Given the description of an element on the screen output the (x, y) to click on. 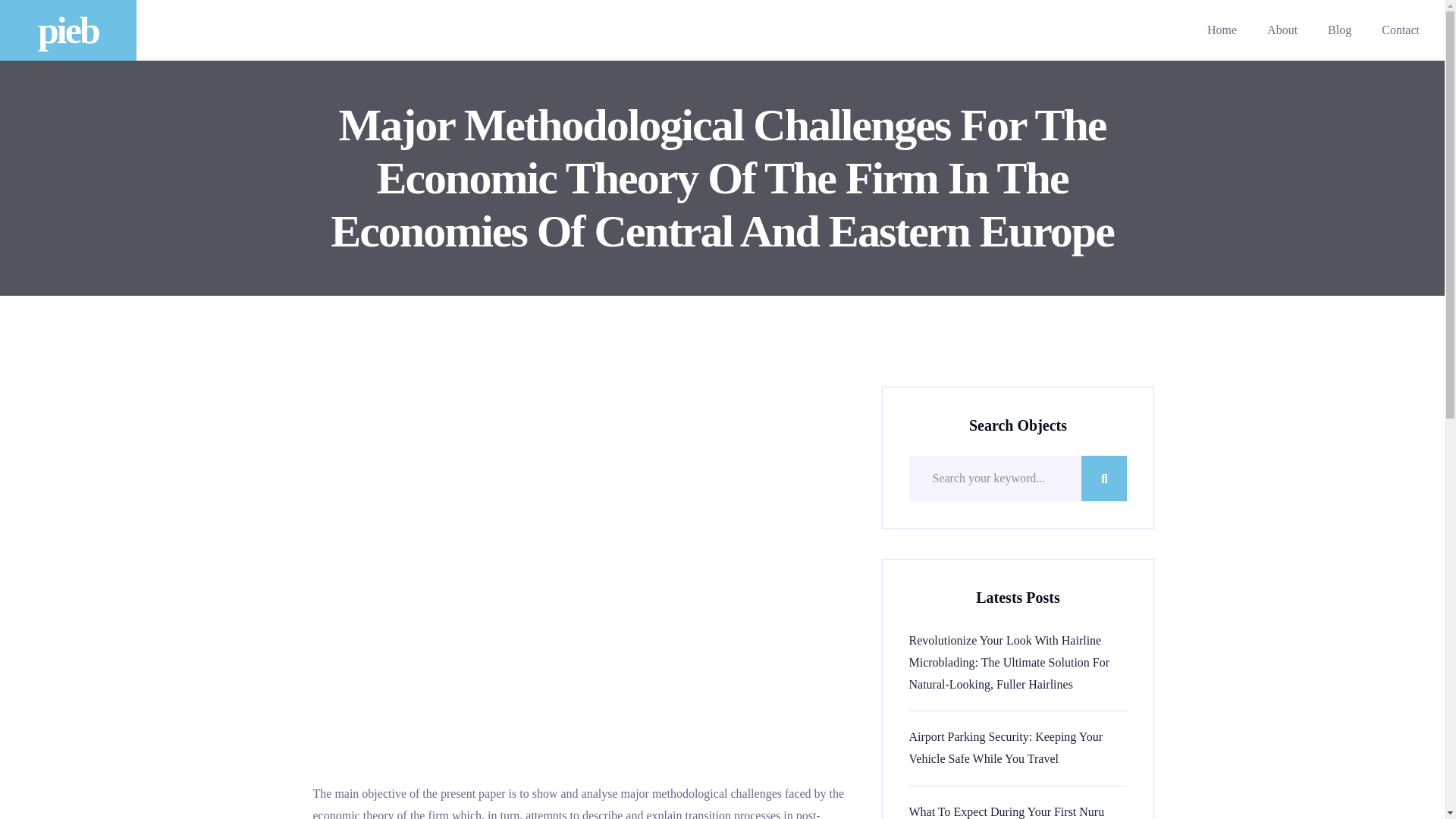
Contact (1400, 30)
Home (1221, 30)
What To Expect During Your First Nuru Massage (1017, 810)
Blog (1339, 30)
About (1282, 30)
pieb (68, 30)
